Given the description of an element on the screen output the (x, y) to click on. 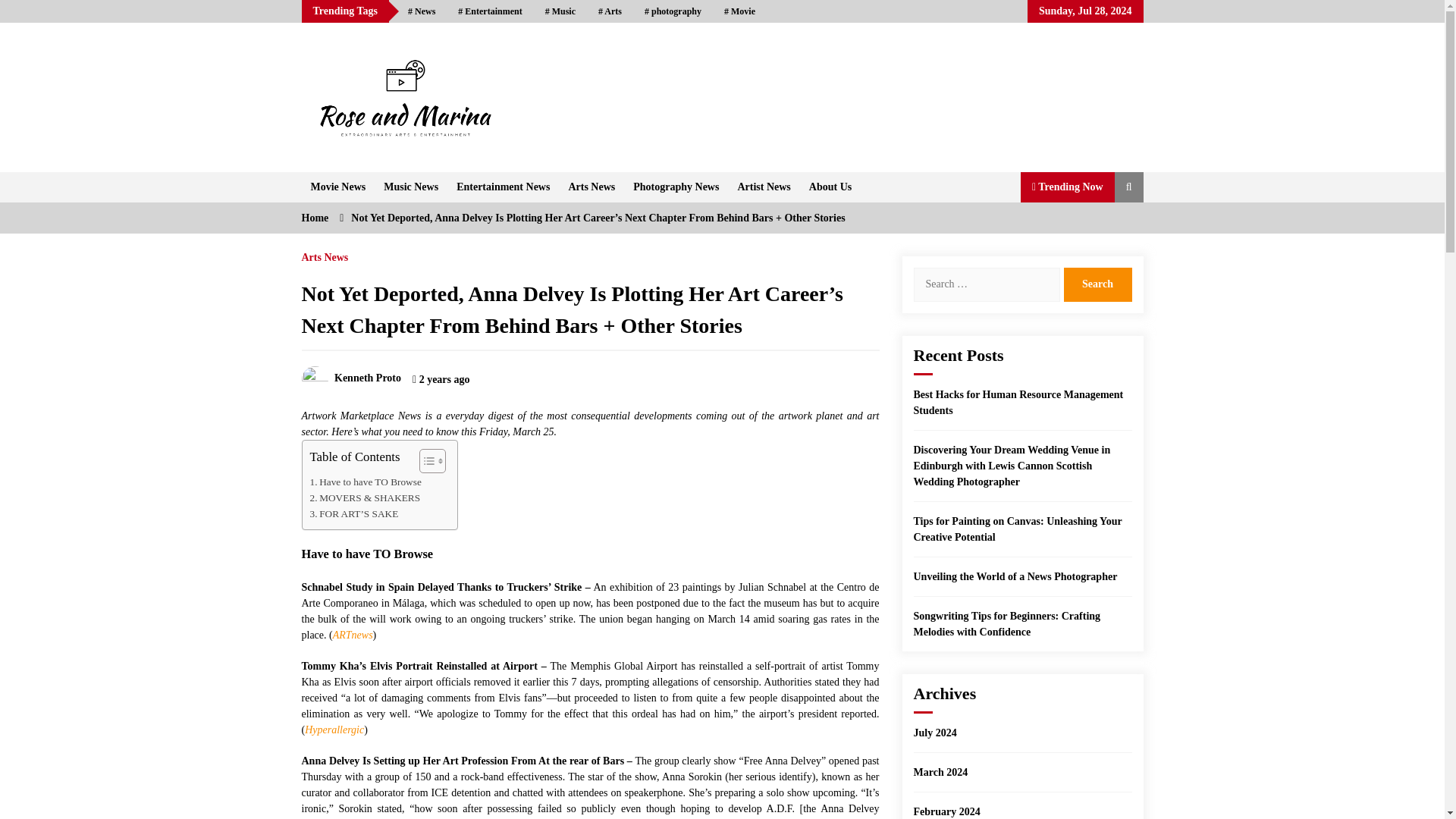
News (421, 11)
Movie (740, 11)
Entertainment News (502, 186)
Movie News (338, 186)
photography (673, 11)
Arts (609, 11)
Search (1096, 283)
Music News (410, 186)
Have to have TO Browse (364, 480)
Artist News (763, 186)
Photography News (676, 186)
Arts News (591, 186)
Search (1096, 283)
Music (560, 11)
About Us (829, 186)
